Given the description of an element on the screen output the (x, y) to click on. 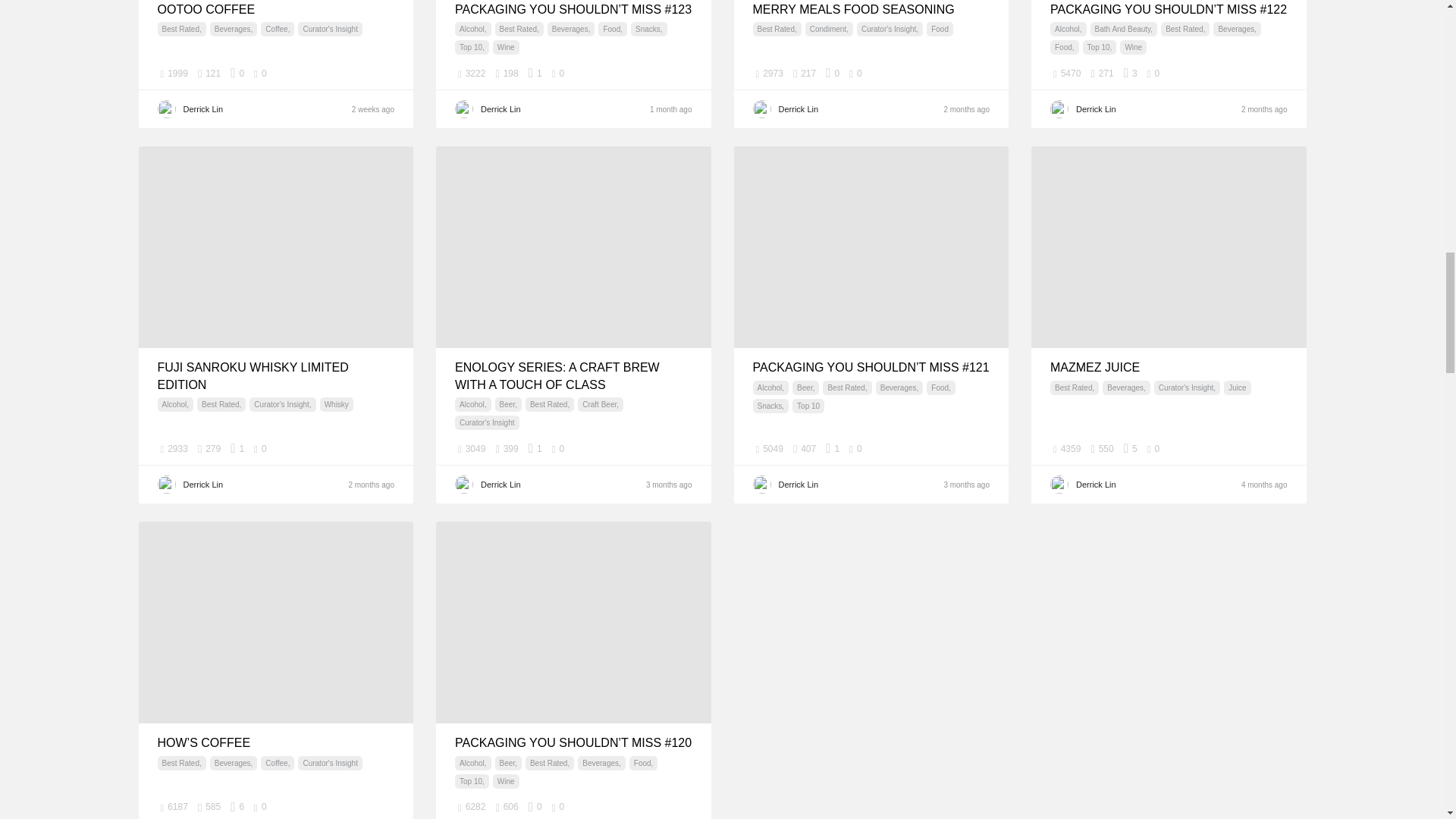
Global (682, 73)
Derrick Lin (254, 108)
Argentina (384, 73)
Derrick Lin (847, 108)
Derrick Lin (551, 108)
